Given the description of an element on the screen output the (x, y) to click on. 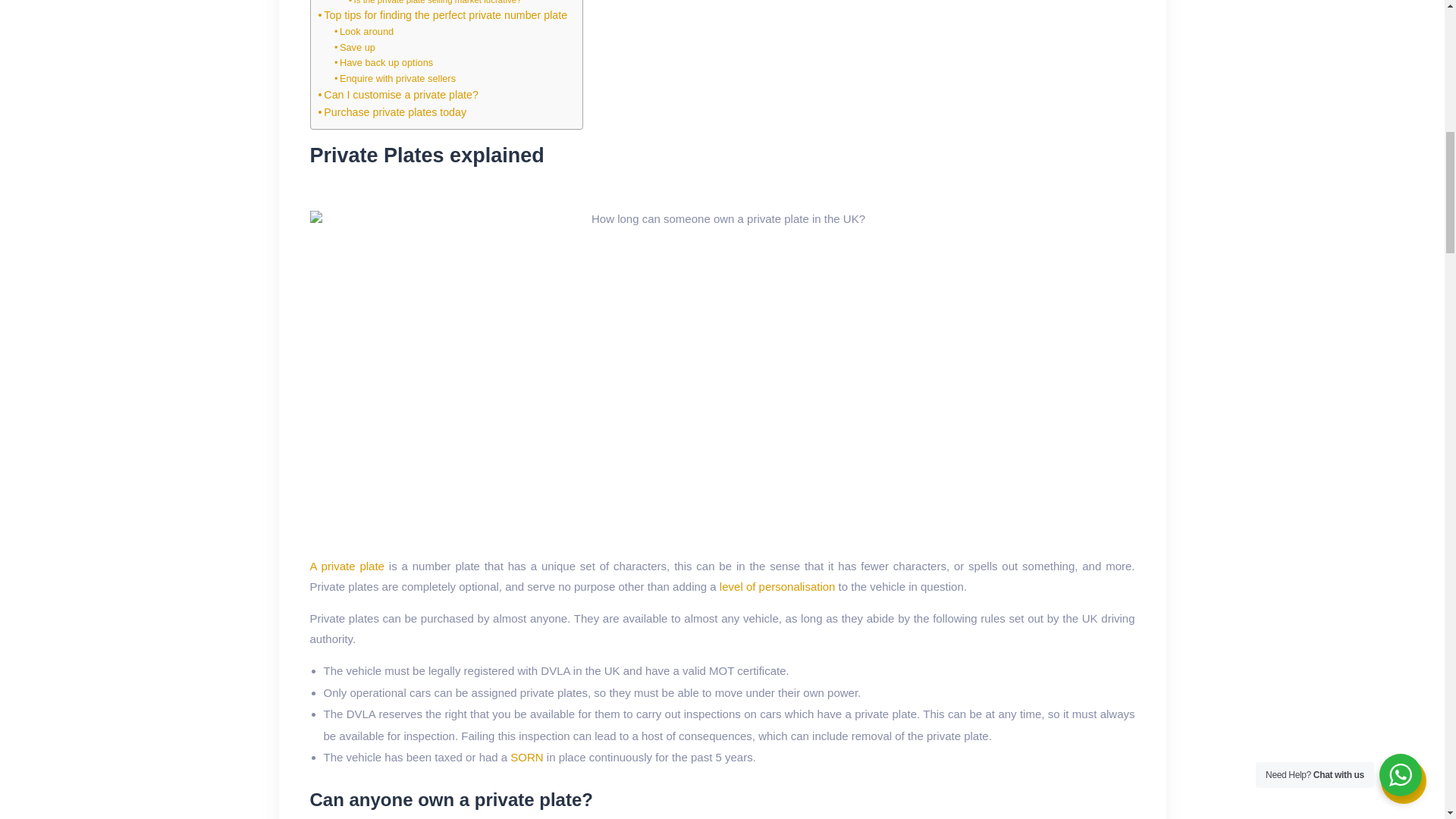
Enquire with private sellers (394, 79)
Can I customise a private plate? (398, 94)
Have back up options (383, 63)
Look around (363, 32)
Top tips for finding the perfect private number plate (442, 15)
Purchase private plates today (392, 112)
Save up (354, 47)
Is the private plate selling market lucrative? (435, 3)
